Given the description of an element on the screen output the (x, y) to click on. 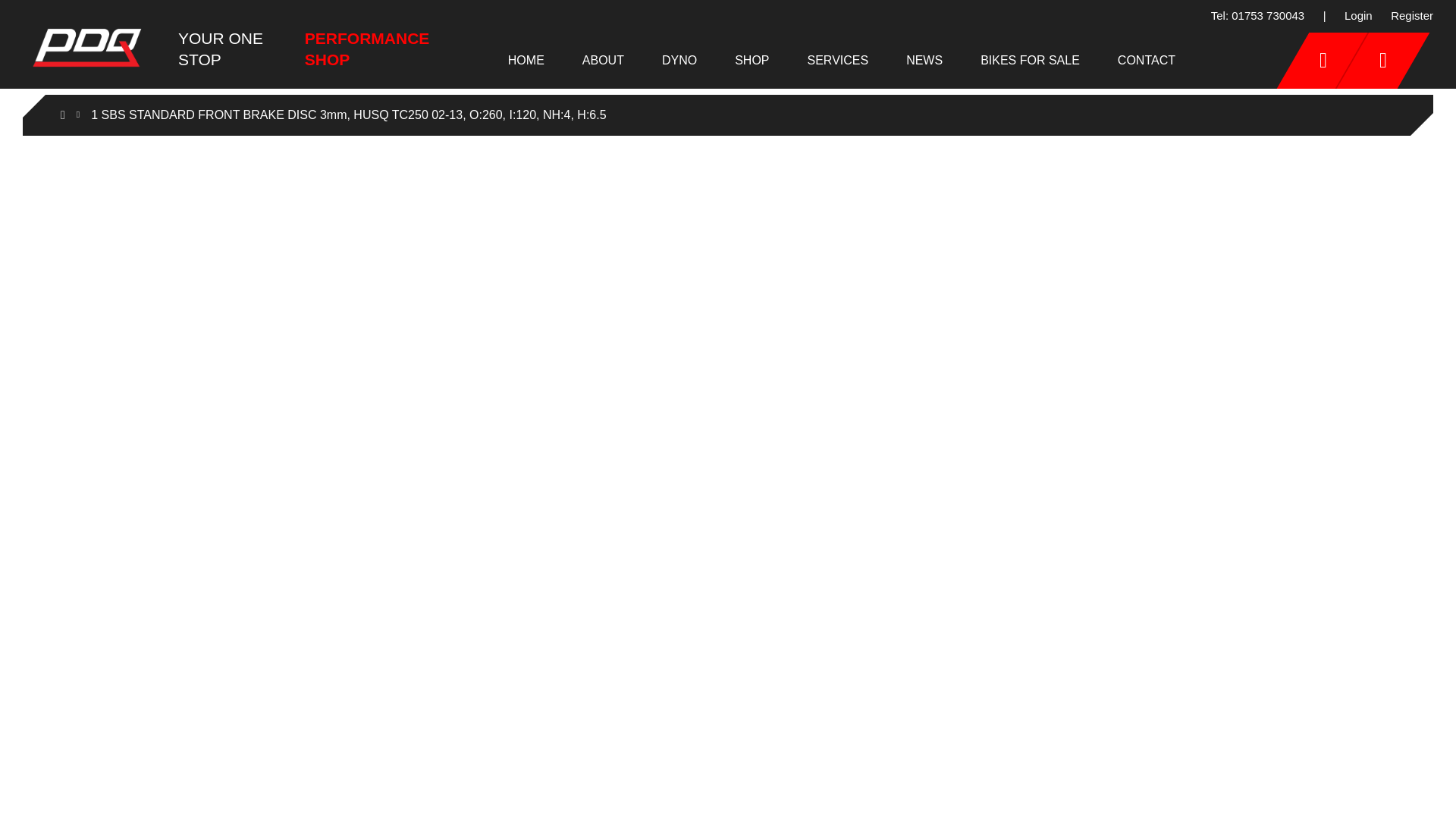
CONTACT (1146, 59)
NEWS (923, 59)
HOME (526, 59)
Register (1411, 16)
BIKES FOR SALE (1029, 59)
ABOUT (603, 59)
SHOP (751, 59)
SERVICES (838, 59)
DYNO (679, 59)
